Given the description of an element on the screen output the (x, y) to click on. 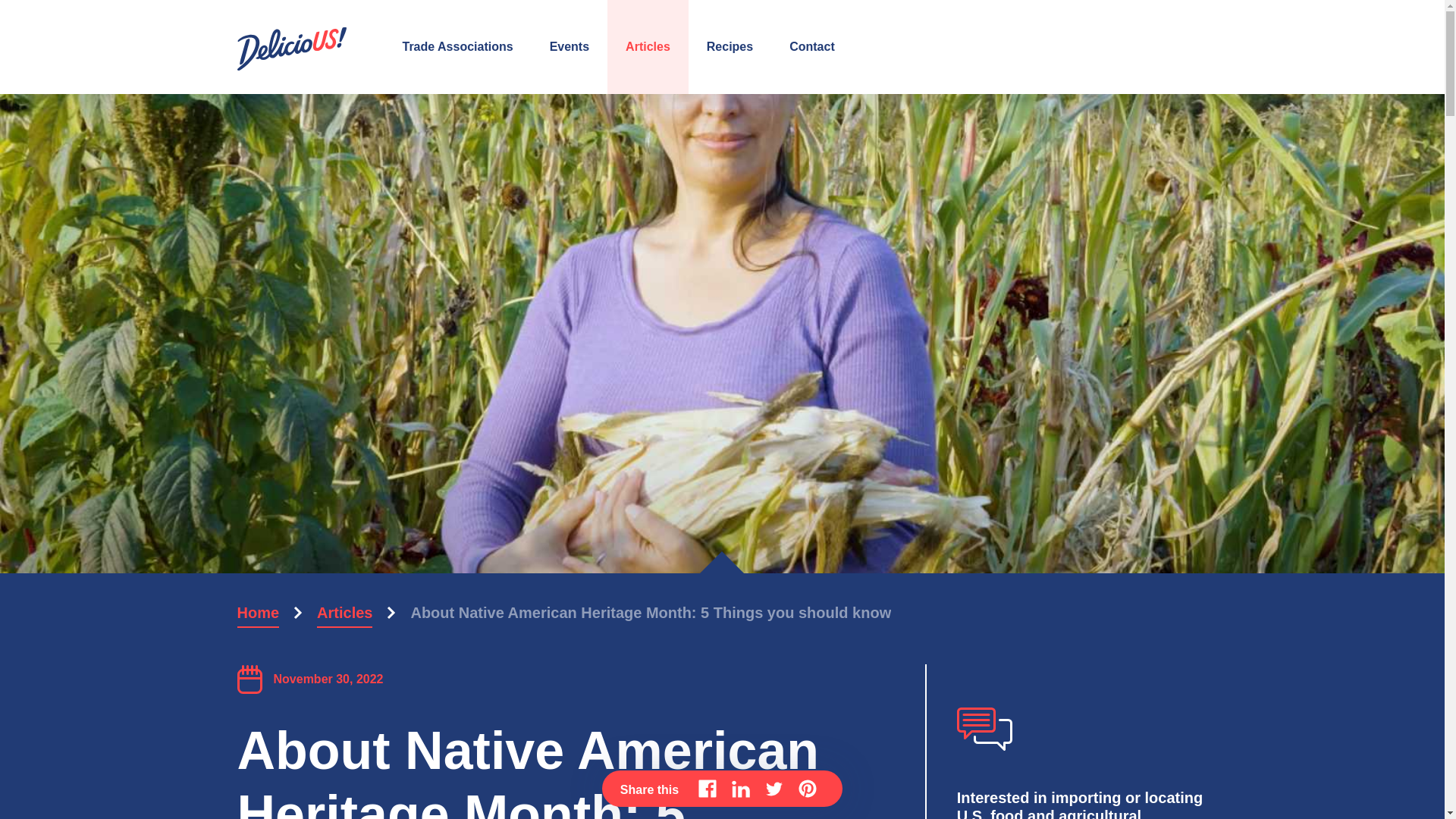
LinkedIn (740, 788)
Trade Associations (457, 47)
Twitter (774, 788)
Home (257, 612)
Pinterest (806, 788)
Facebook (707, 788)
Articles (344, 612)
